Given the description of an element on the screen output the (x, y) to click on. 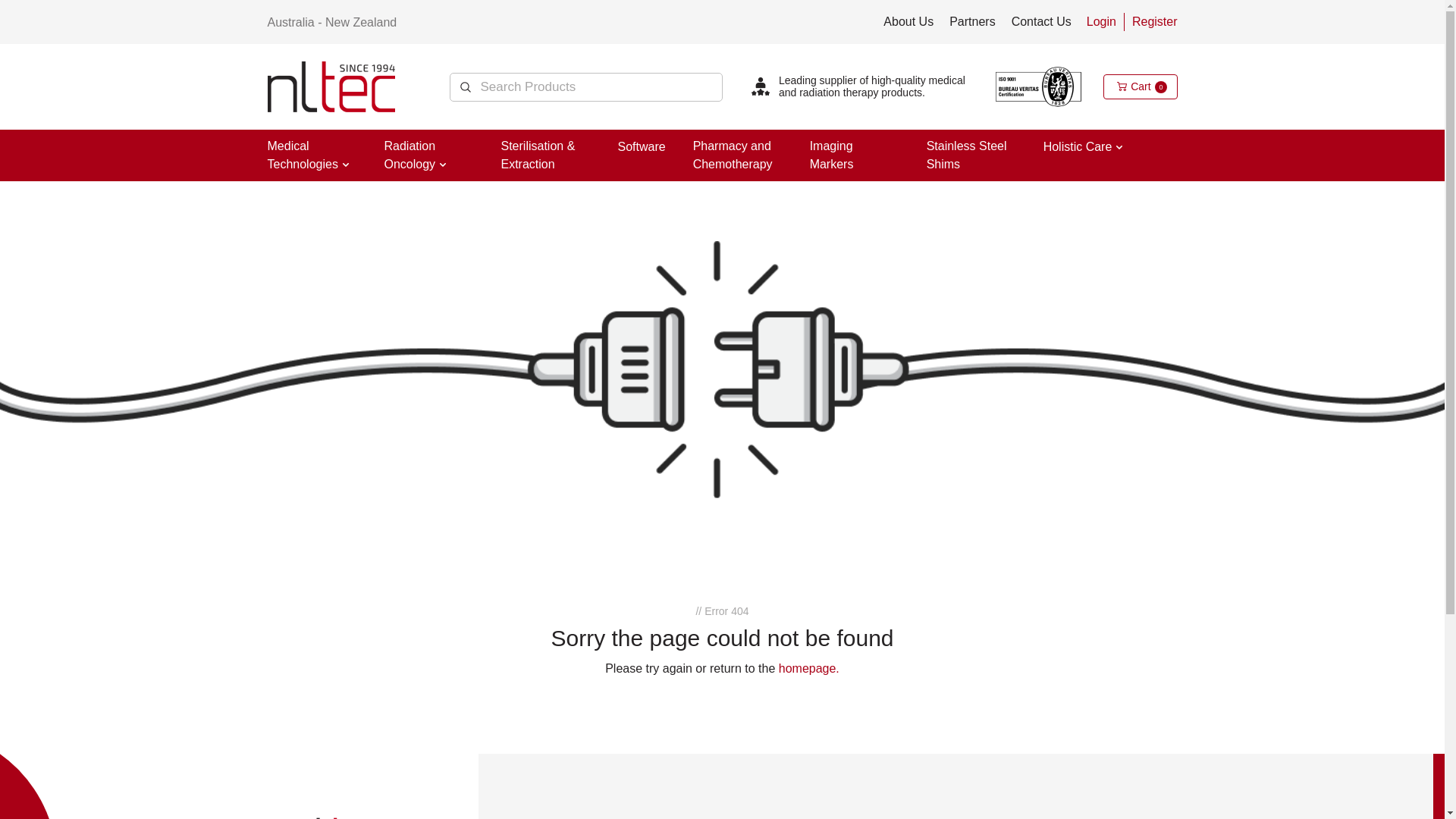
Login Element type: text (1101, 21)
Software Element type: text (641, 146)
Sterilisation & Extraction Element type: text (537, 154)
Pharmacy and Chemotherapy Element type: text (732, 154)
Medical Technologies Element type: text (301, 154)
Imaging Markers Element type: text (831, 154)
Radiation Oncology Element type: text (409, 154)
Stainless Steel Shims Element type: text (966, 154)
Holistic Care Element type: text (1077, 146)
Contact Us Element type: text (1041, 21)
Cart 0 Element type: text (1139, 86)
Partners Element type: text (971, 21)
About Us Element type: text (908, 21)
homepage. Element type: text (808, 668)
Register Element type: text (1154, 21)
